Given the description of an element on the screen output the (x, y) to click on. 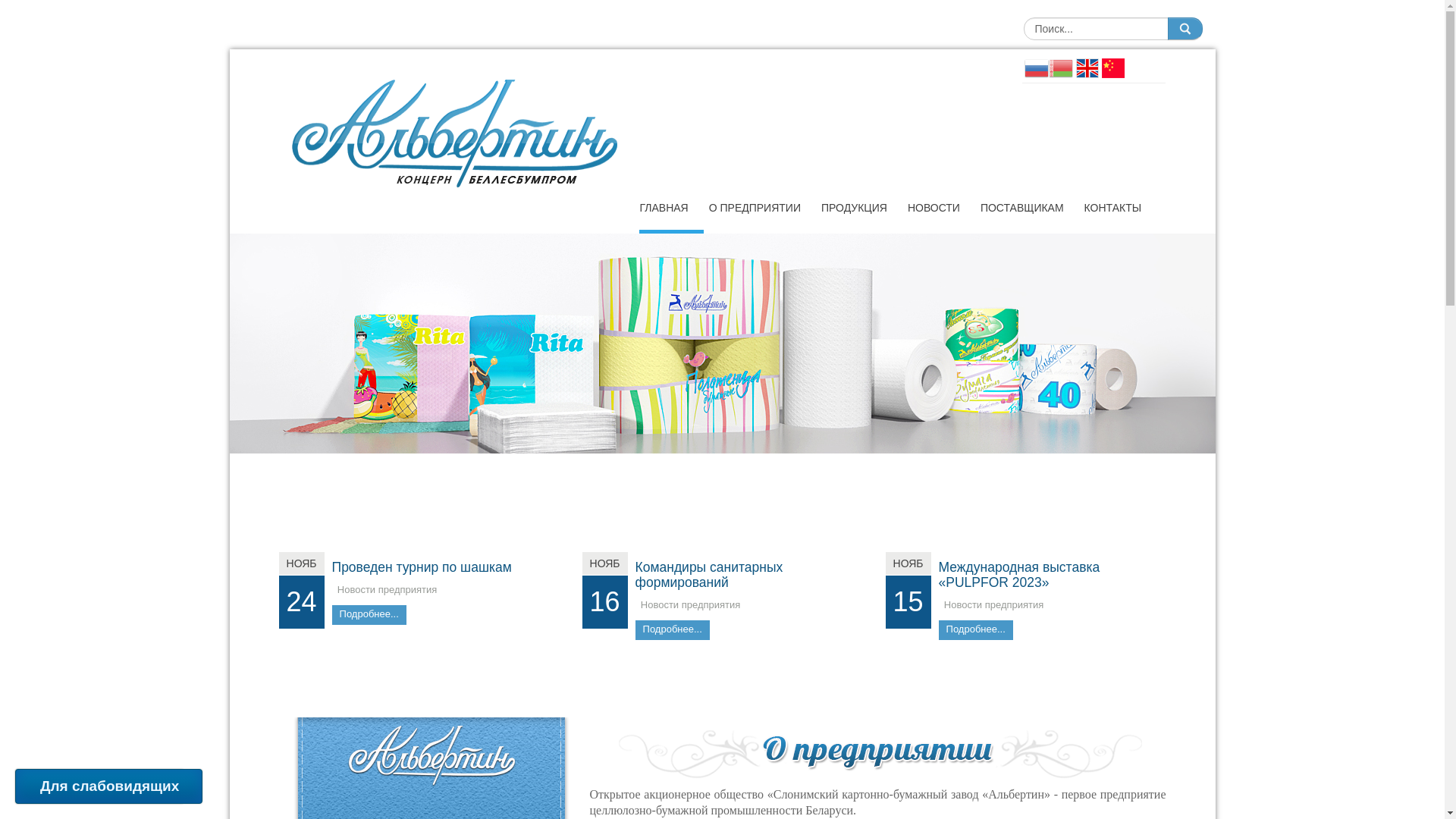
Russian Element type: hover (1035, 67)
Belarusian Element type: hover (1060, 67)
Chinese Element type: hover (1112, 67)
English language Element type: hover (1086, 67)
